Given the description of an element on the screen output the (x, y) to click on. 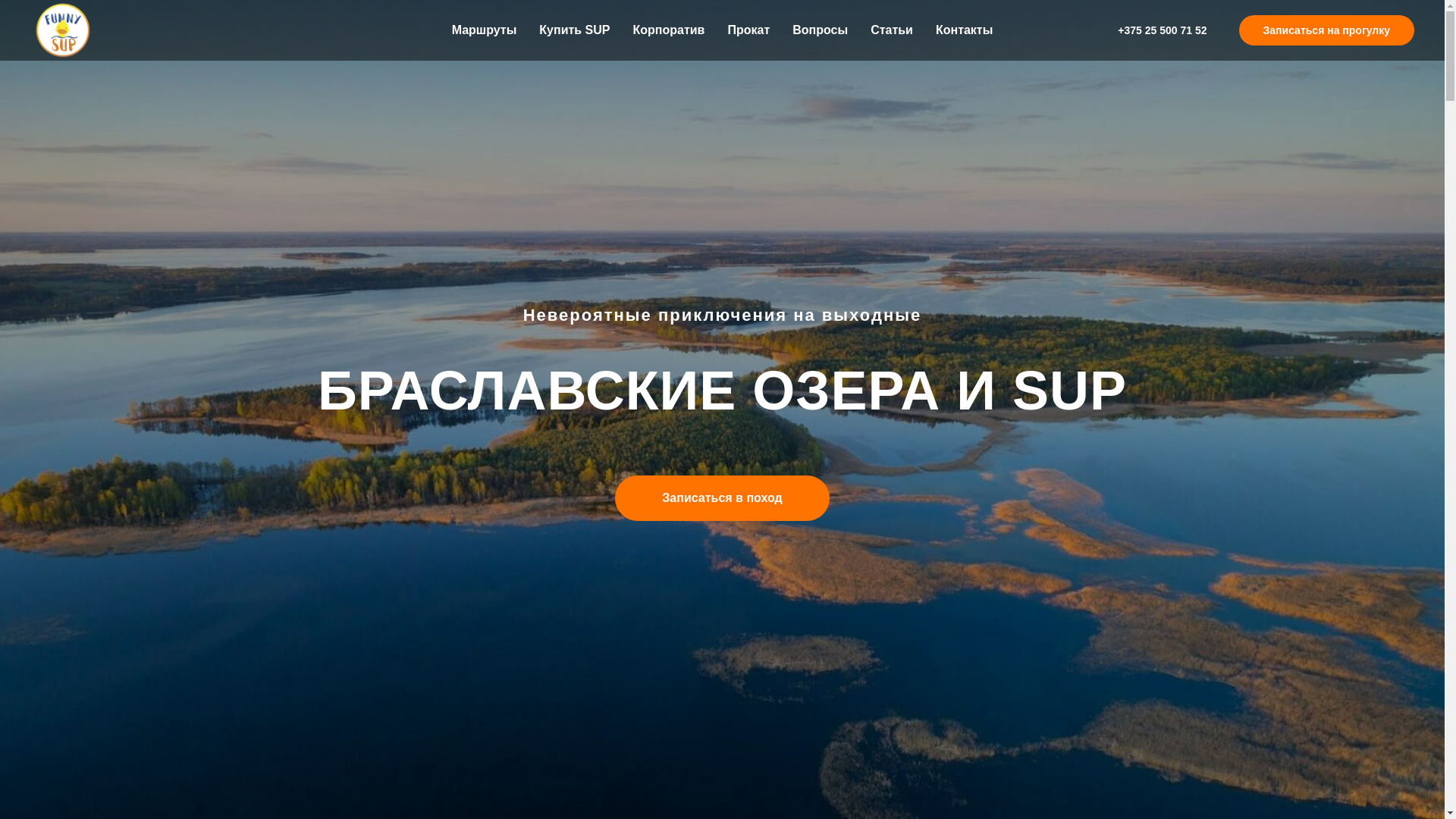
+375 25 500 71 52 Element type: text (1161, 30)
